Given the description of an element on the screen output the (x, y) to click on. 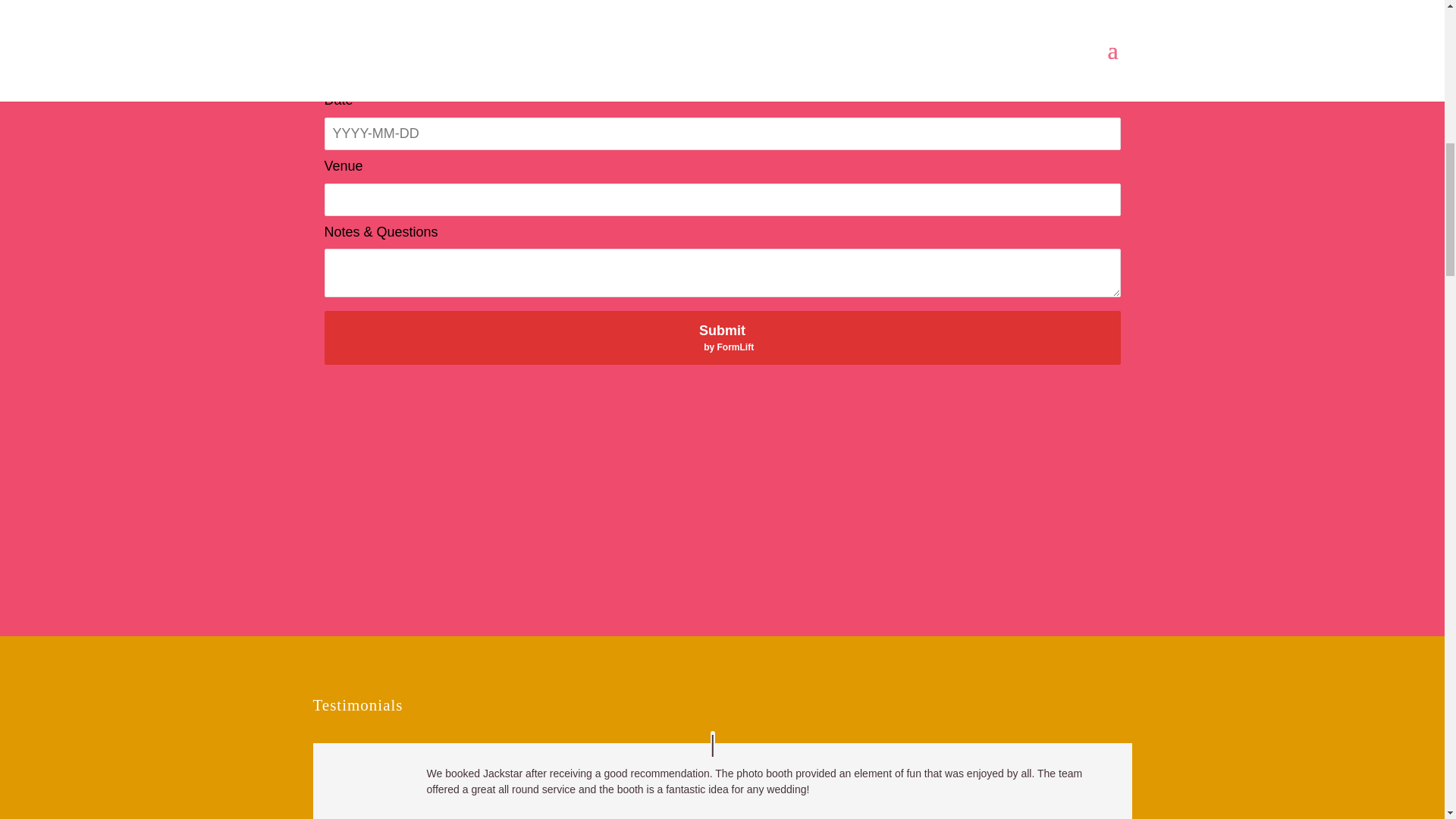
FormLift (722, 337)
FormLift (735, 347)
